Given the description of an element on the screen output the (x, y) to click on. 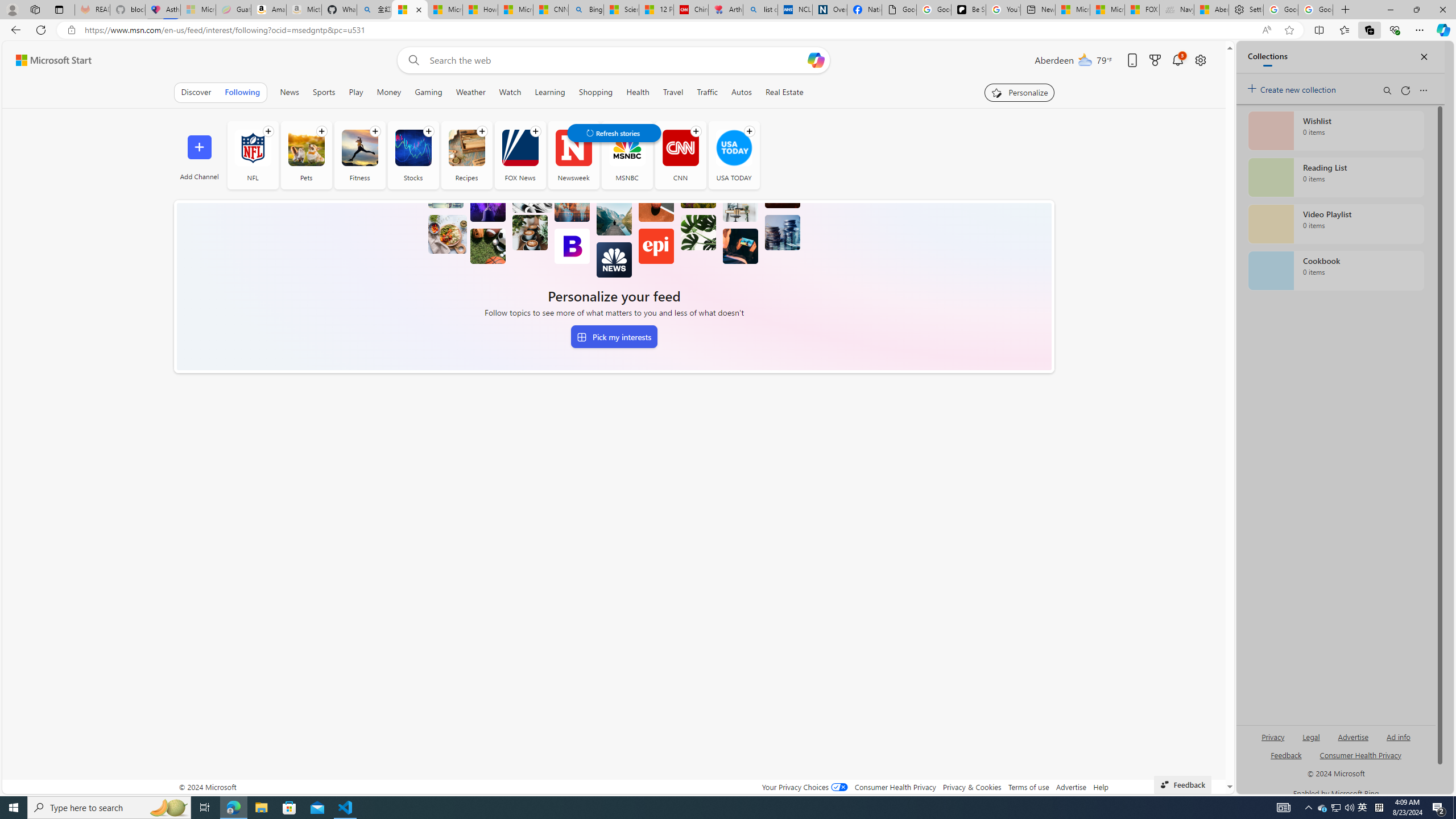
Autos (741, 92)
Class: control (613, 132)
Microsoft-Report a Concern to Bing - Sleeping (198, 9)
Pets (306, 147)
Play (355, 92)
Arthritis: Ask Health Professionals (725, 9)
Discover (196, 92)
Following (242, 92)
Open Copilot (815, 59)
Consumer Health Privacy (895, 786)
